Given the description of an element on the screen output the (x, y) to click on. 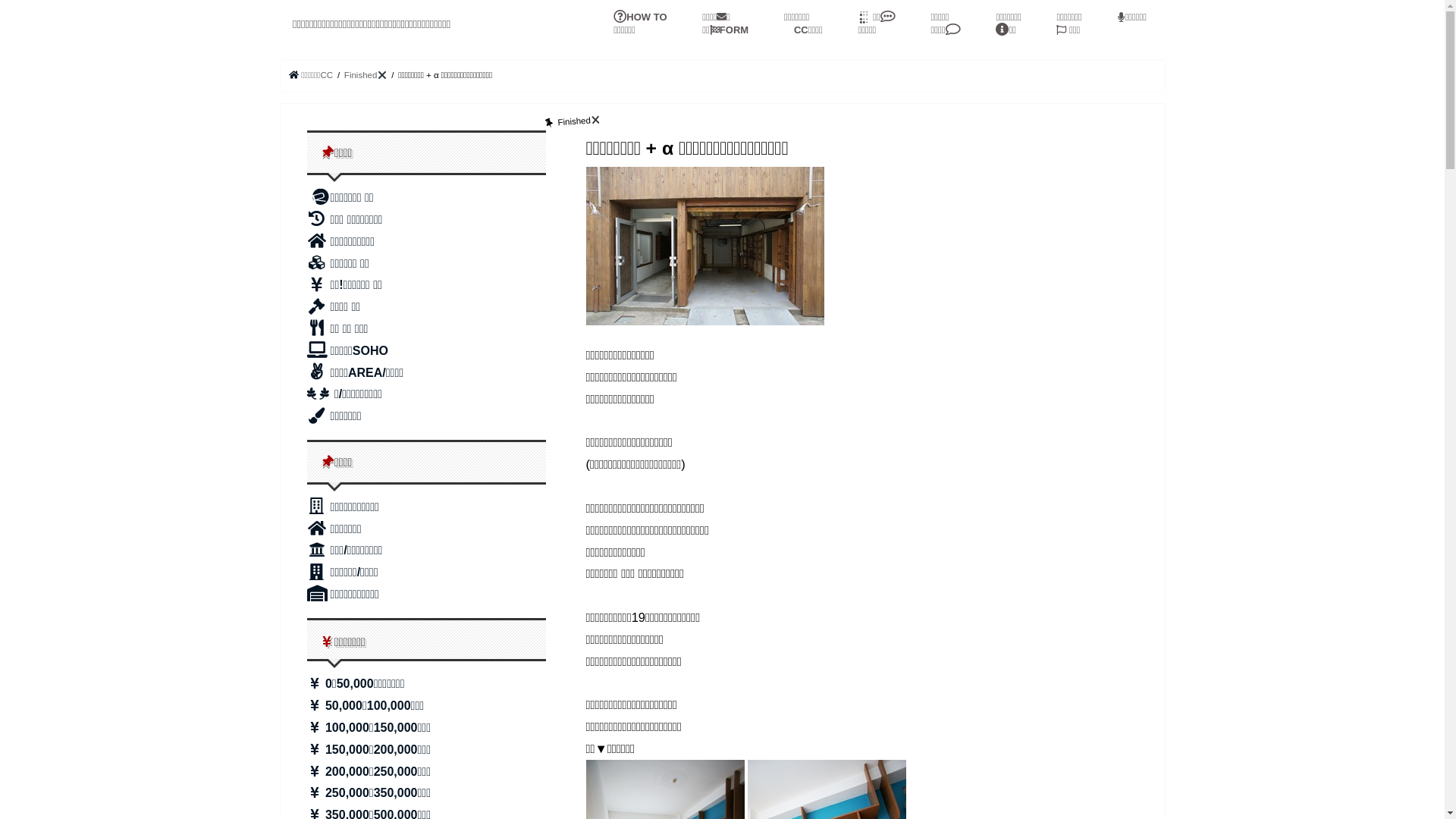
Finished Element type: text (365, 74)
